Given the description of an element on the screen output the (x, y) to click on. 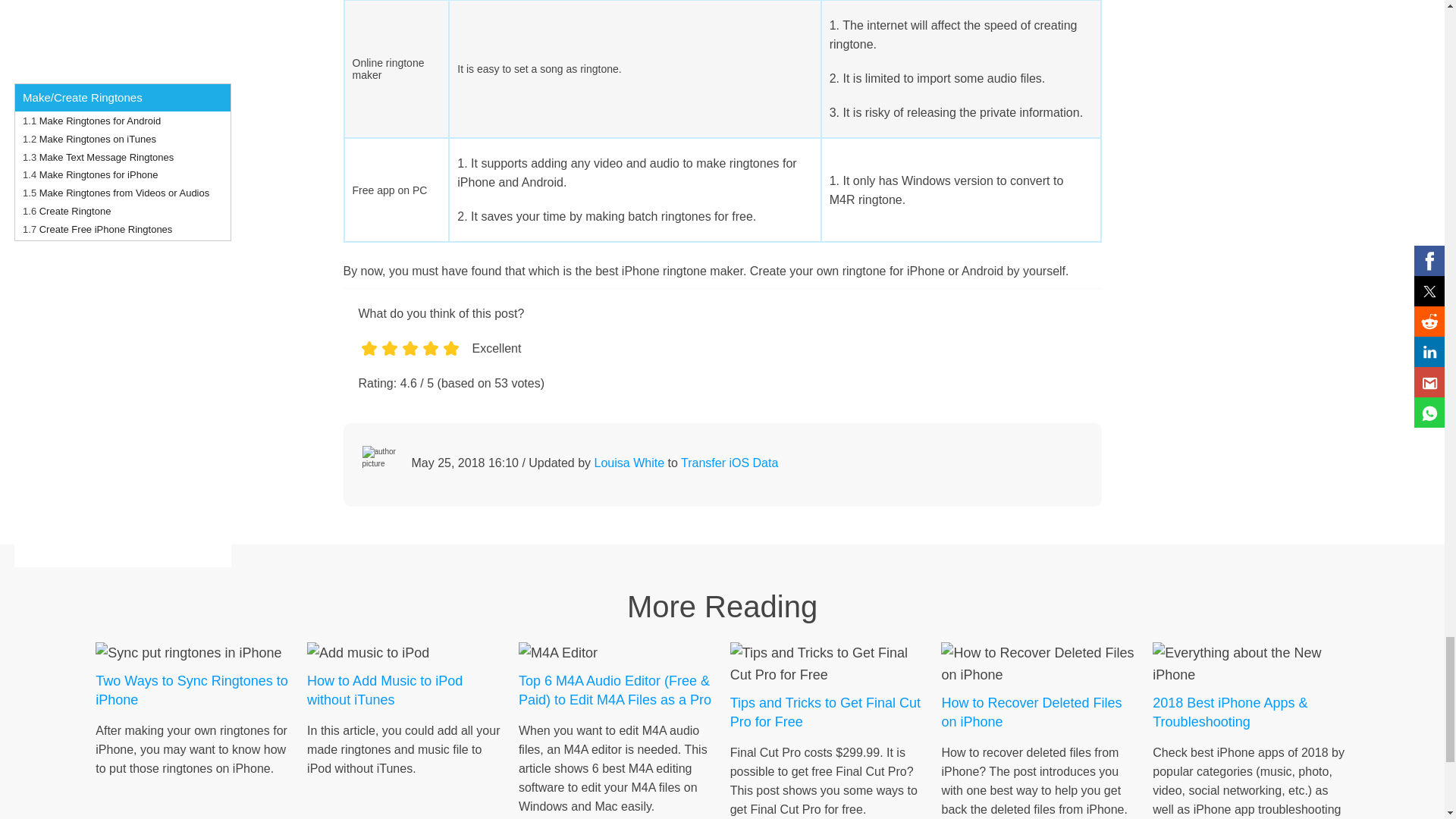
Transfer iOS Data (729, 462)
Louisa White (629, 462)
